Given the description of an element on the screen output the (x, y) to click on. 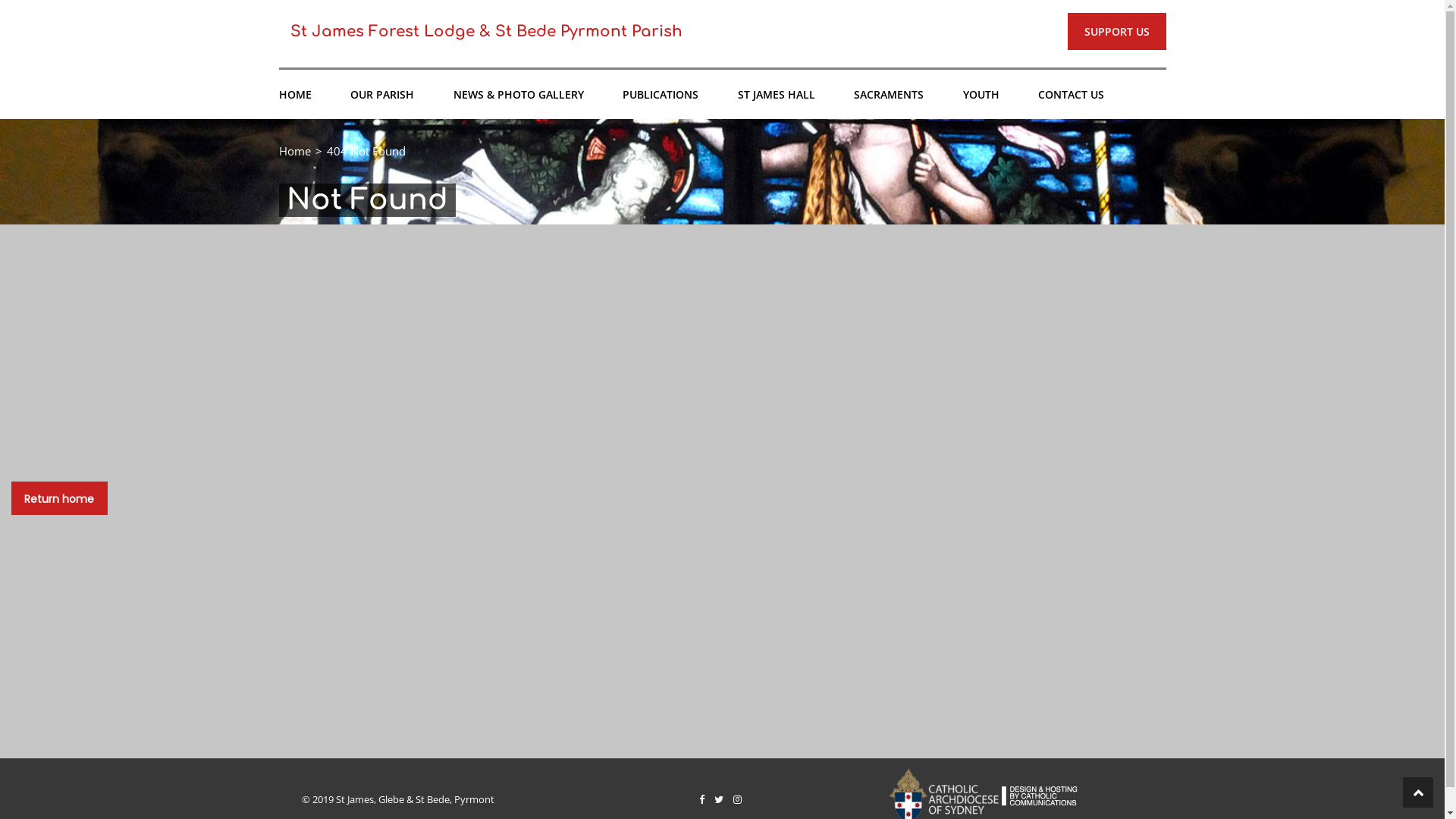
HOME Element type: text (295, 94)
Facebook Element type: hover (701, 799)
St James Forest Lodge & St Bede Pyrmont Parish Element type: text (485, 31)
Instagram Element type: hover (737, 799)
NEWS & PHOTO GALLERY Element type: text (518, 94)
Home Element type: text (294, 150)
SUPPORT US Element type: text (1116, 31)
Twitter Element type: hover (718, 799)
OUR PARISH Element type: text (382, 94)
CONTACT US Element type: text (1071, 94)
SACRAMENTS Element type: text (888, 94)
YOUTH Element type: text (981, 94)
Return home Element type: text (59, 497)
ST JAMES HALL Element type: text (775, 94)
PUBLICATIONS Element type: text (660, 94)
Search Element type: text (1144, 162)
